Given the description of an element on the screen output the (x, y) to click on. 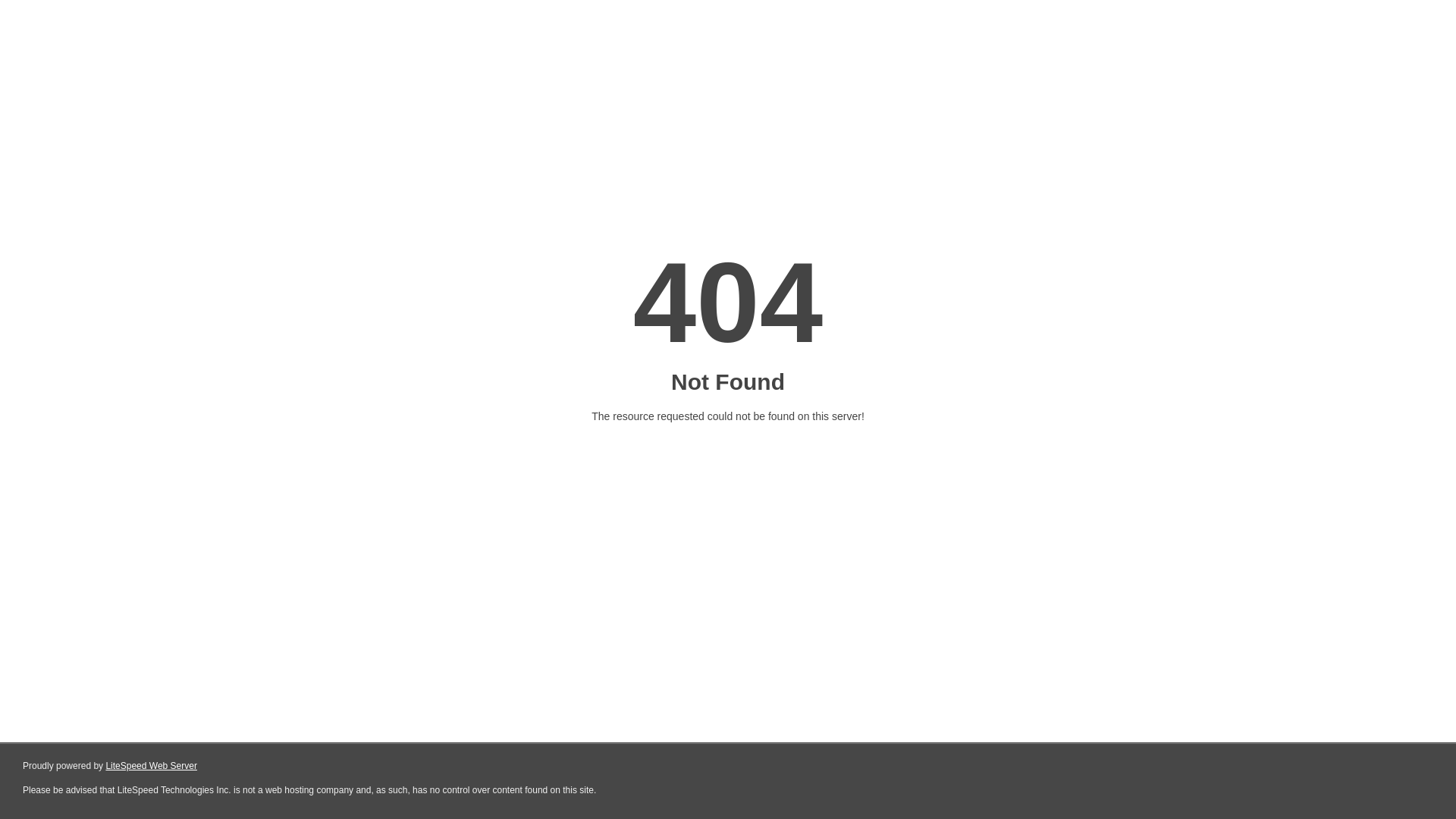
LiteSpeed Web Server Element type: text (151, 765)
